Given the description of an element on the screen output the (x, y) to click on. 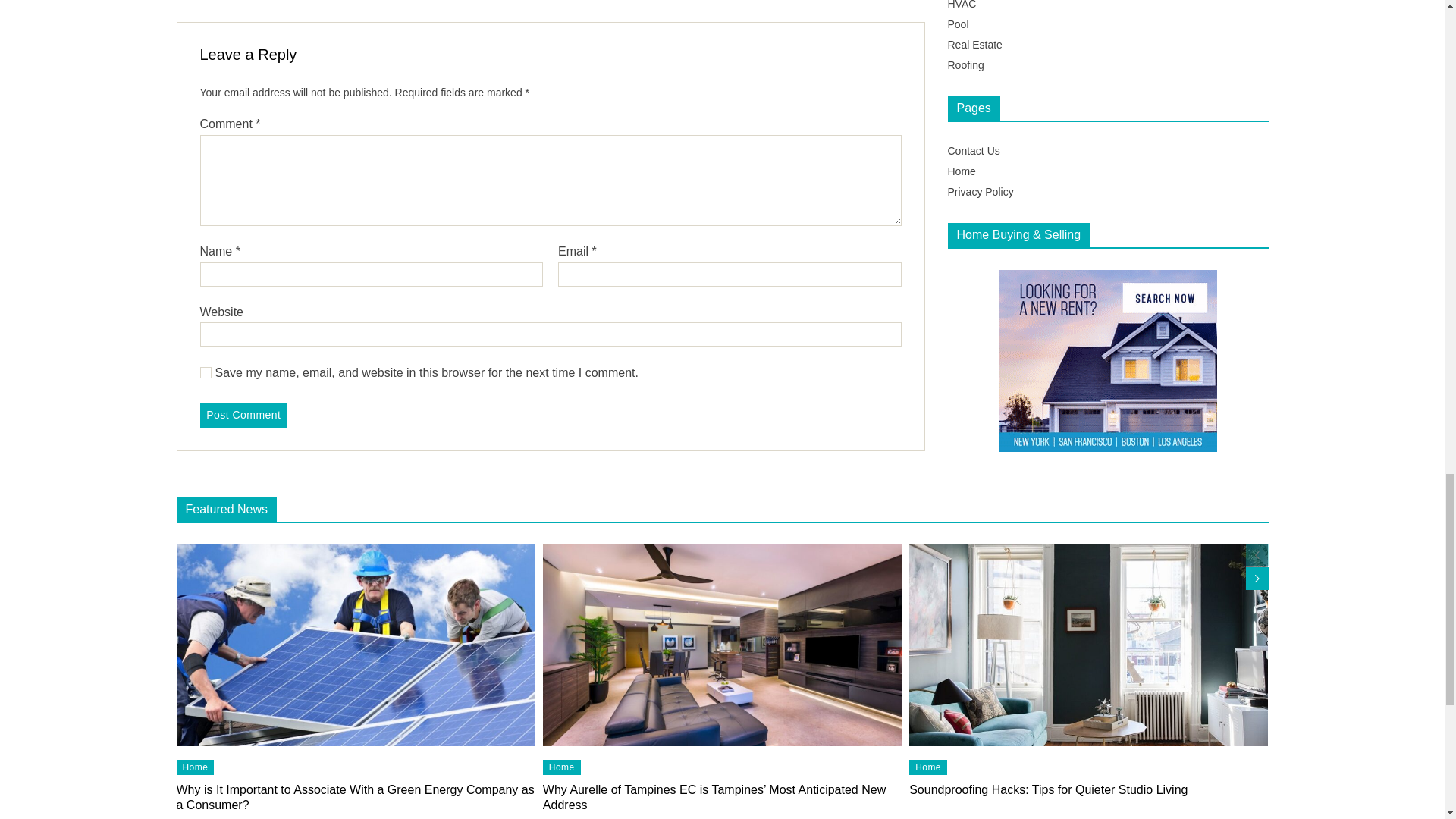
yes (205, 346)
Post Comment (244, 388)
Post Comment (244, 388)
